Given the description of an element on the screen output the (x, y) to click on. 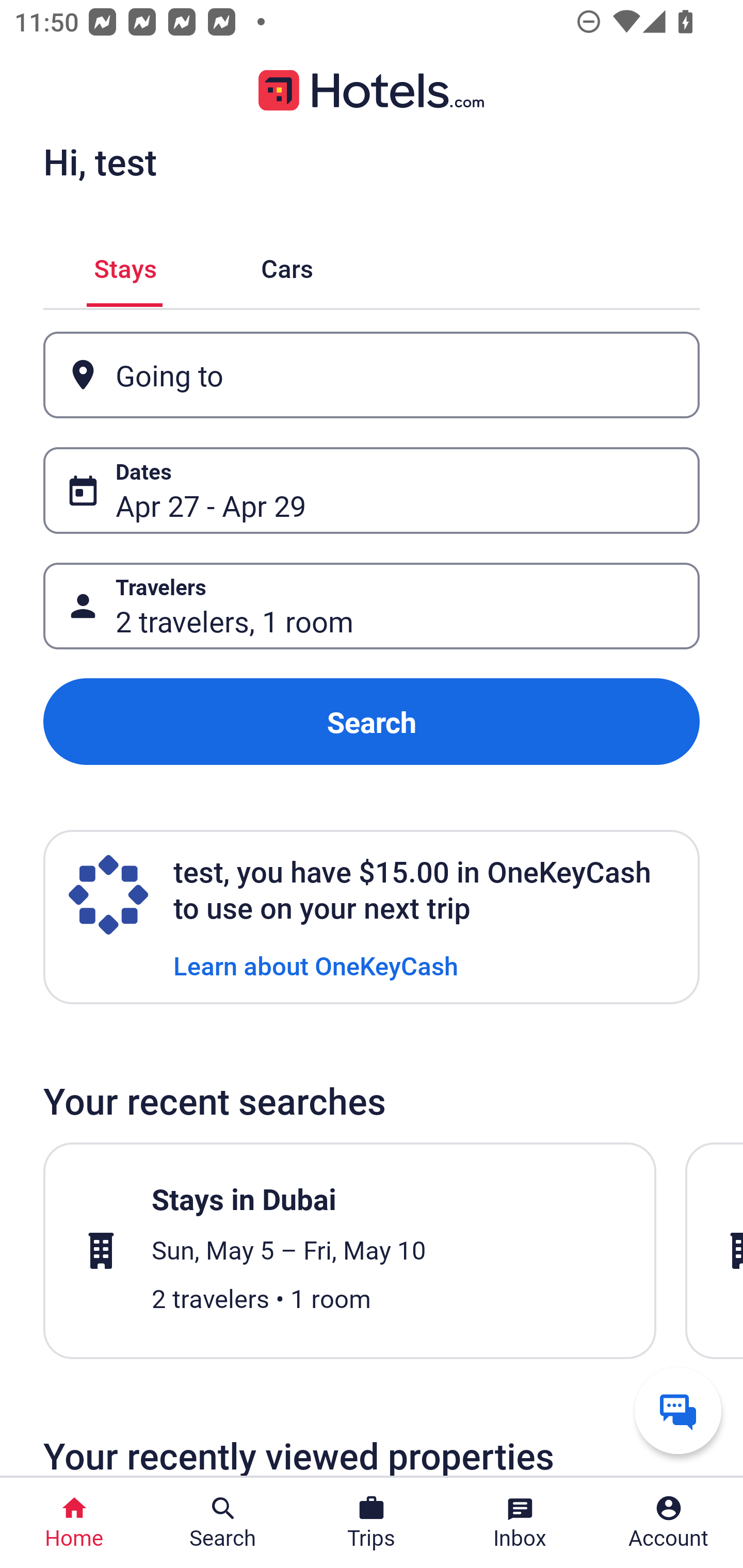
Hi, test (99, 161)
Cars (286, 265)
Going to Button (371, 375)
Dates Button Apr 27 - Apr 29 (371, 489)
Travelers Button 2 travelers, 1 room (371, 605)
Search (371, 721)
Learn about OneKeyCash Learn about OneKeyCash Link (315, 964)
Get help from a virtual agent (677, 1410)
Search Search Button (222, 1522)
Trips Trips Button (371, 1522)
Inbox Inbox Button (519, 1522)
Account Profile. Button (668, 1522)
